Given the description of an element on the screen output the (x, y) to click on. 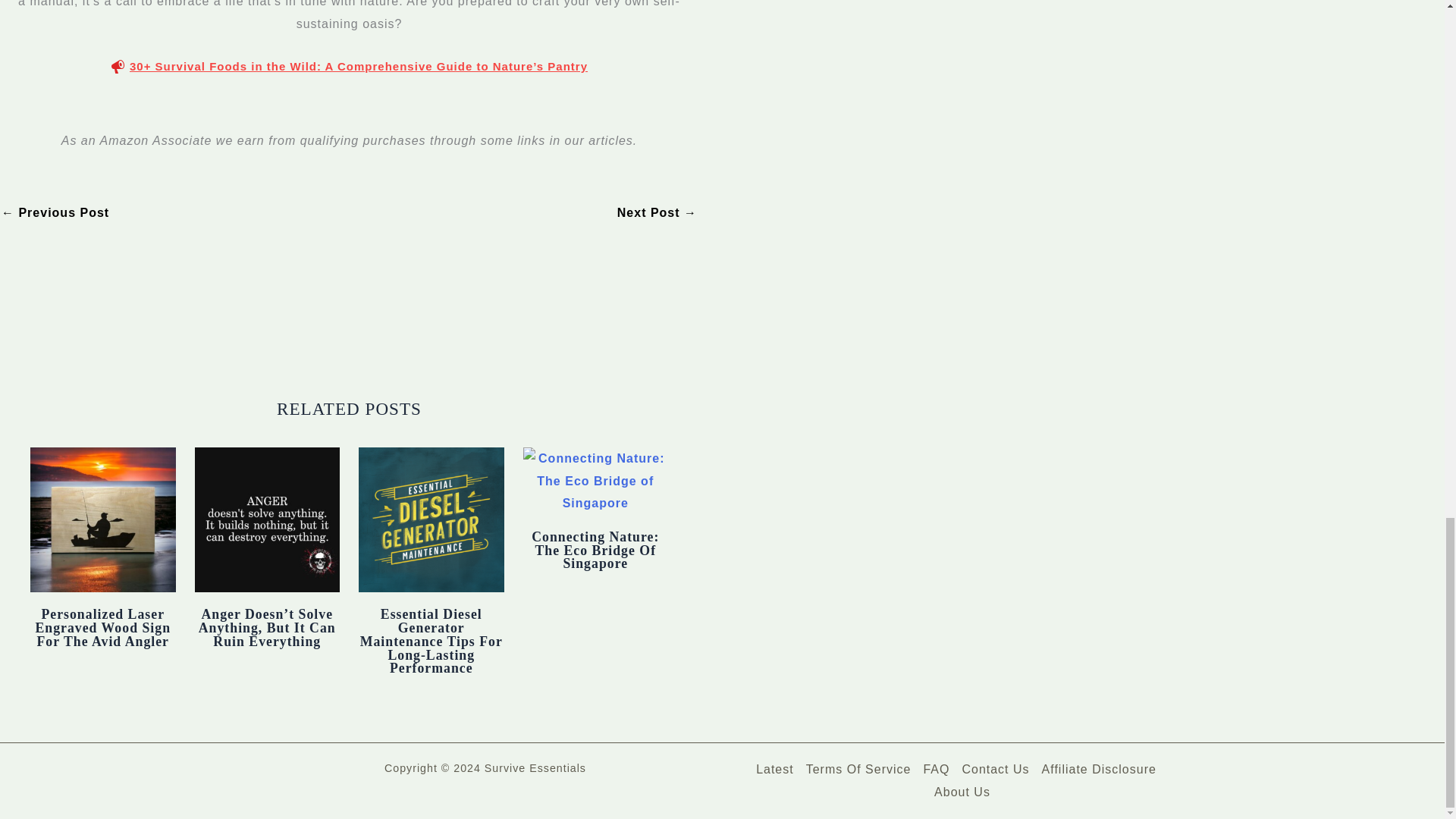
Nature's Blueprint: Crafting a Self-Reliant Homestead (55, 213)
Personalized Laser Engraved Wood Sign For The Avid Angler (102, 627)
Connecting Nature: The Eco Bridge Of Singapore (595, 550)
